Given the description of an element on the screen output the (x, y) to click on. 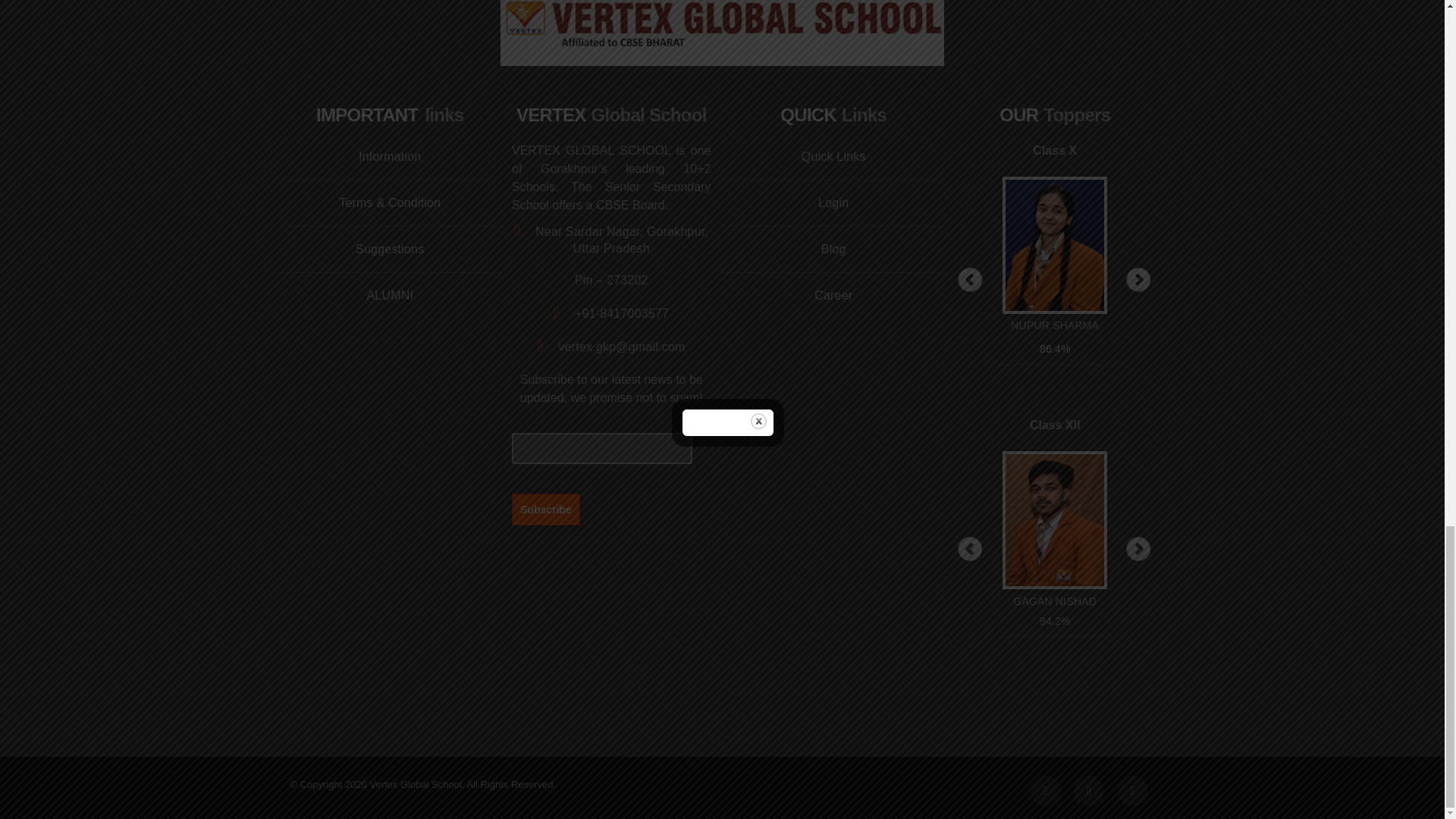
Subscribe (545, 508)
